Given the description of an element on the screen output the (x, y) to click on. 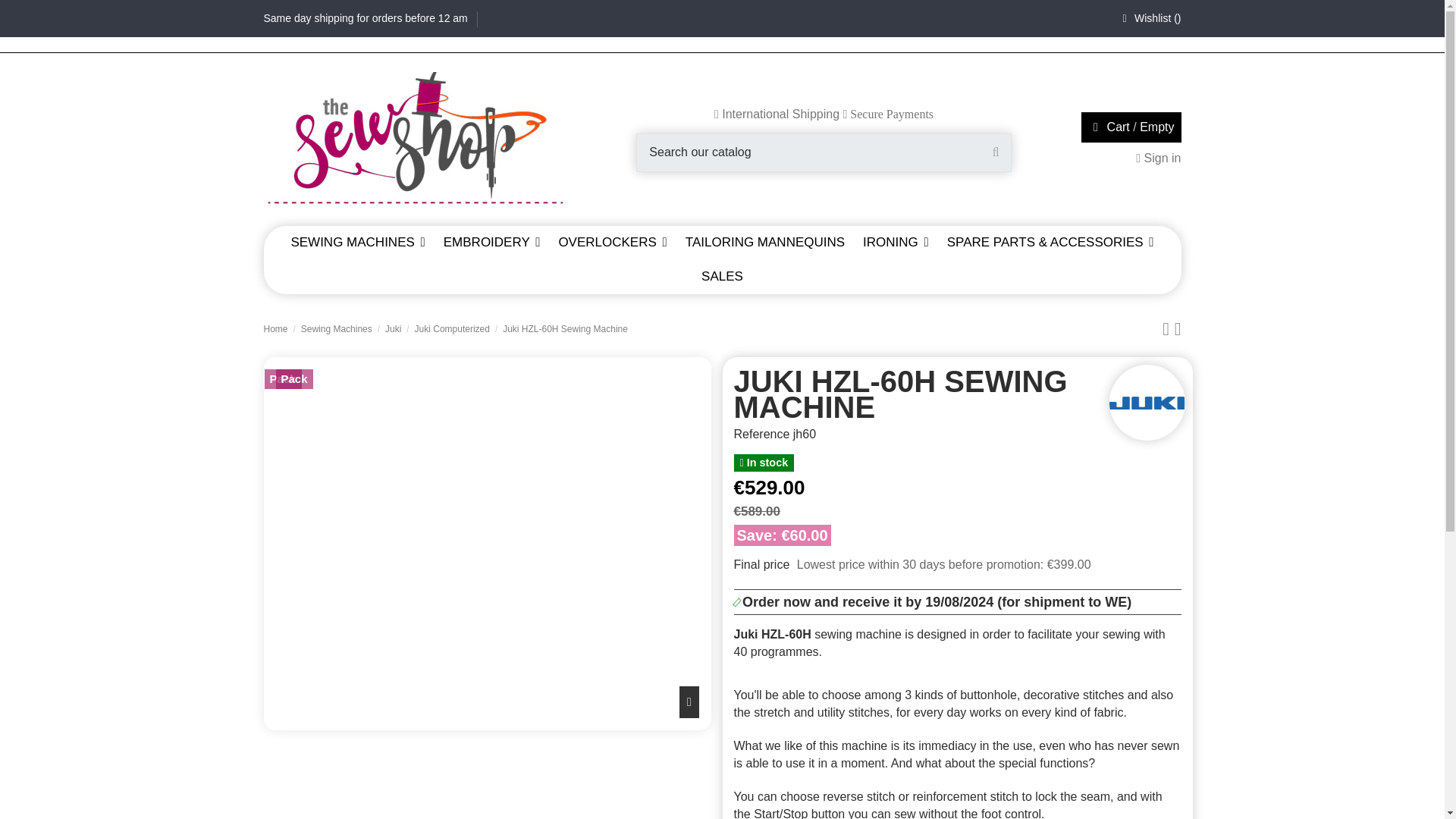
Sign in (1157, 157)
Juki HZL-60H Sewing Machine (440, 780)
Same day shipping for orders before 12 am (366, 18)
Log in to your customer account (1157, 157)
EMBROIDERY (491, 243)
OVERLOCKERS (611, 243)
SEWING MACHINES (357, 243)
